Given the description of an element on the screen output the (x, y) to click on. 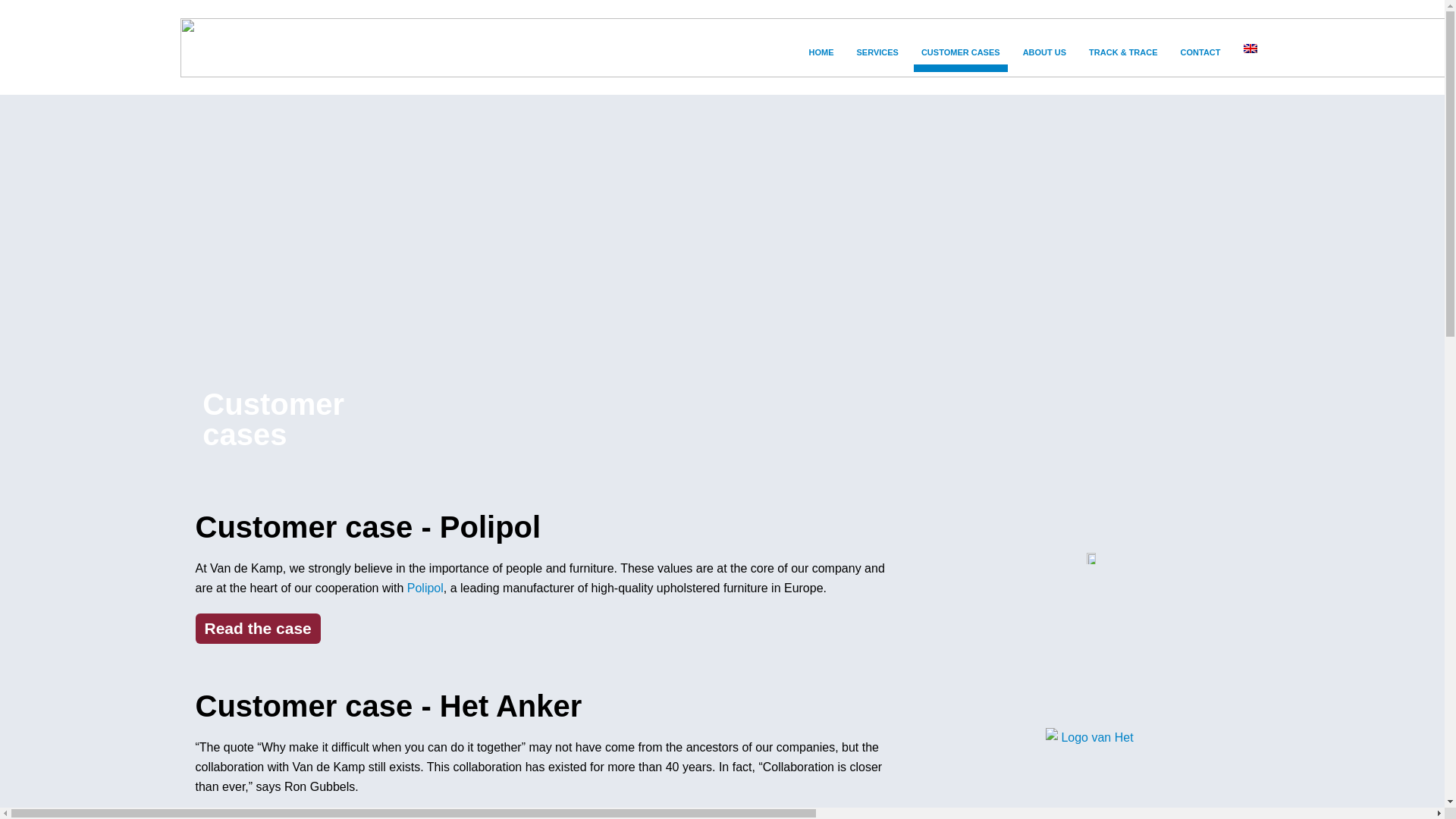
Read the case (257, 815)
HOME (820, 51)
CUSTOMER CASES (960, 51)
ABOUT US (1044, 51)
SERVICES (876, 51)
Polipol (425, 587)
CONTACT (1200, 51)
Read the case (257, 628)
